Given the description of an element on the screen output the (x, y) to click on. 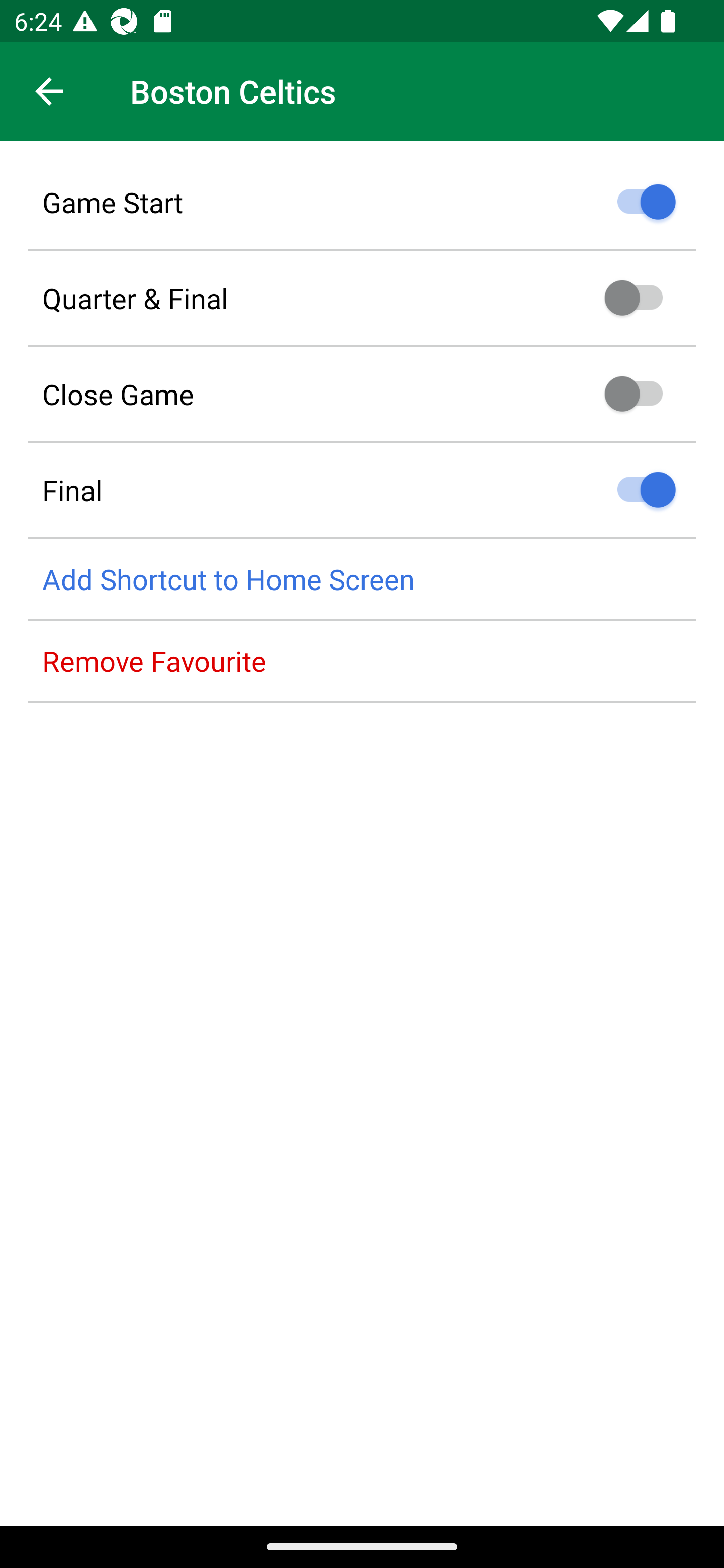
Navigate up (49, 91)
Add Shortcut to Home Screen (362, 579)
Remove Favourite (362, 661)
